Given the description of an element on the screen output the (x, y) to click on. 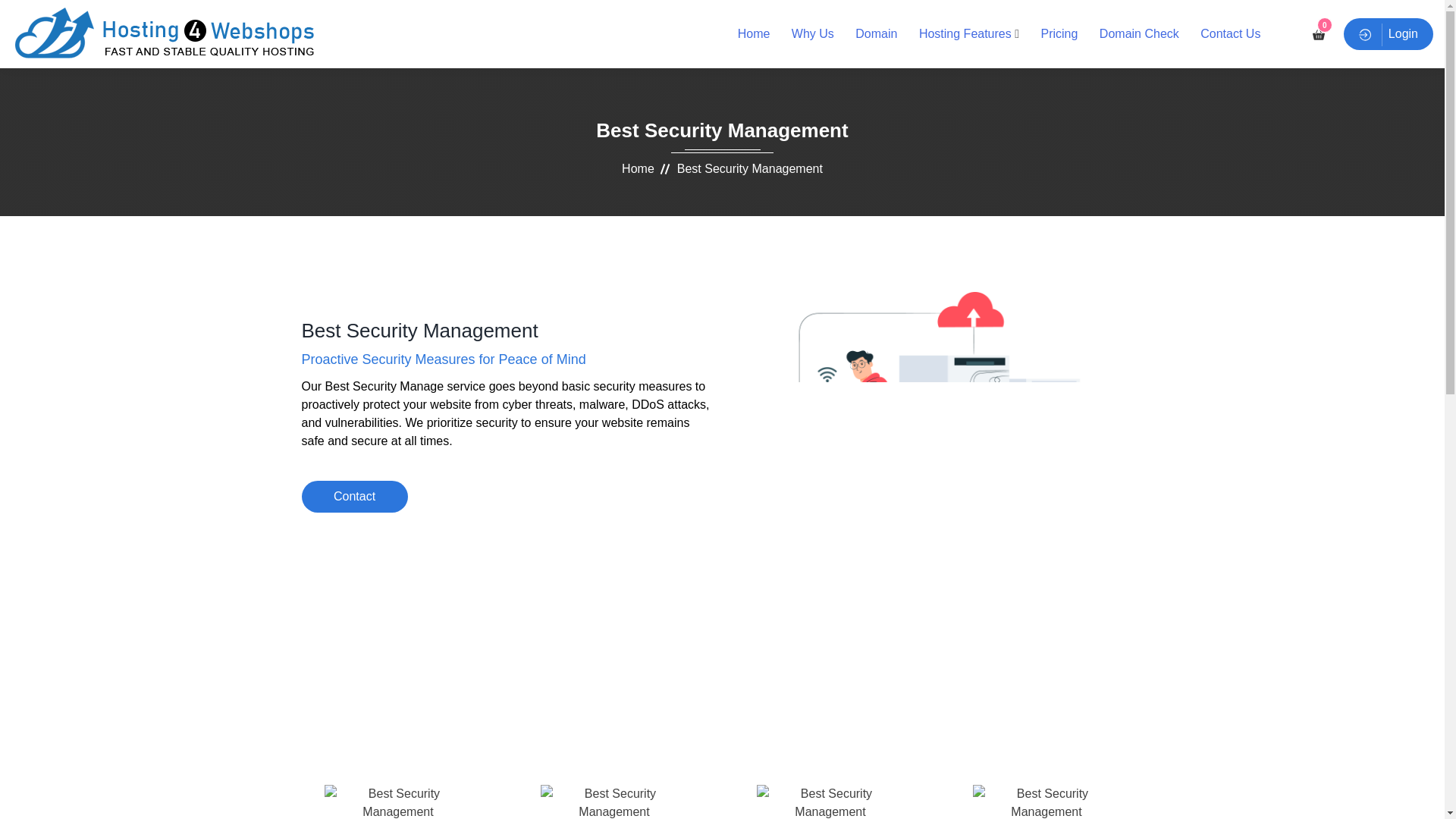
Contact Us (1229, 33)
Domain Check (1139, 33)
Contact (354, 496)
Hosting Features (964, 33)
Login (1387, 33)
Home (637, 168)
0 (1318, 33)
